Given the description of an element on the screen output the (x, y) to click on. 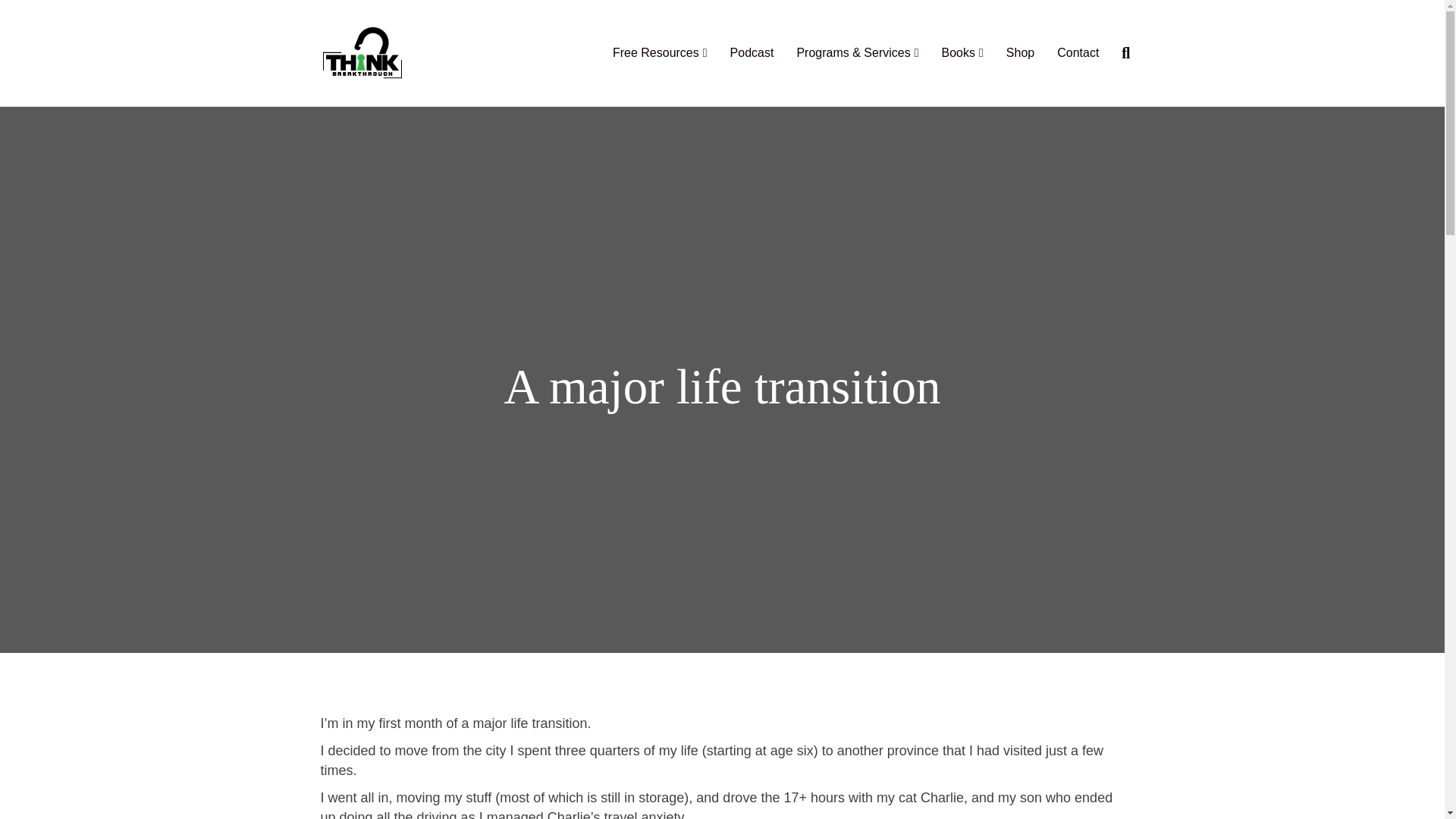
Shop (1019, 52)
Free Resources (660, 53)
Contact (1077, 52)
Podcast (752, 52)
Books (962, 53)
